Given the description of an element on the screen output the (x, y) to click on. 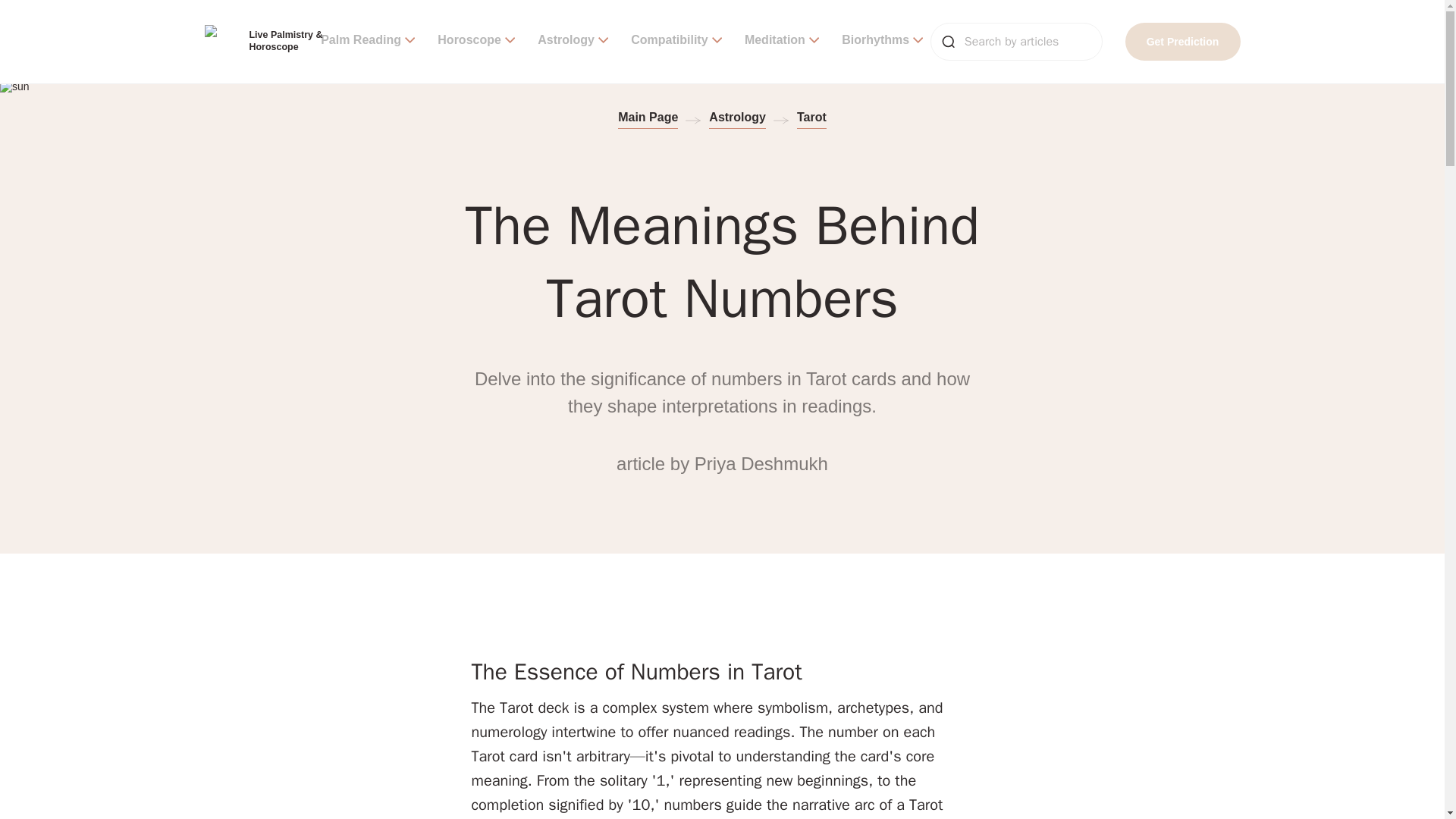
Astrology (572, 41)
Biorhythms (882, 41)
Meditation (781, 41)
Palm Reading (367, 41)
Horoscope (476, 41)
Compatibility (676, 41)
Get Prediction (1182, 41)
